Given the description of an element on the screen output the (x, y) to click on. 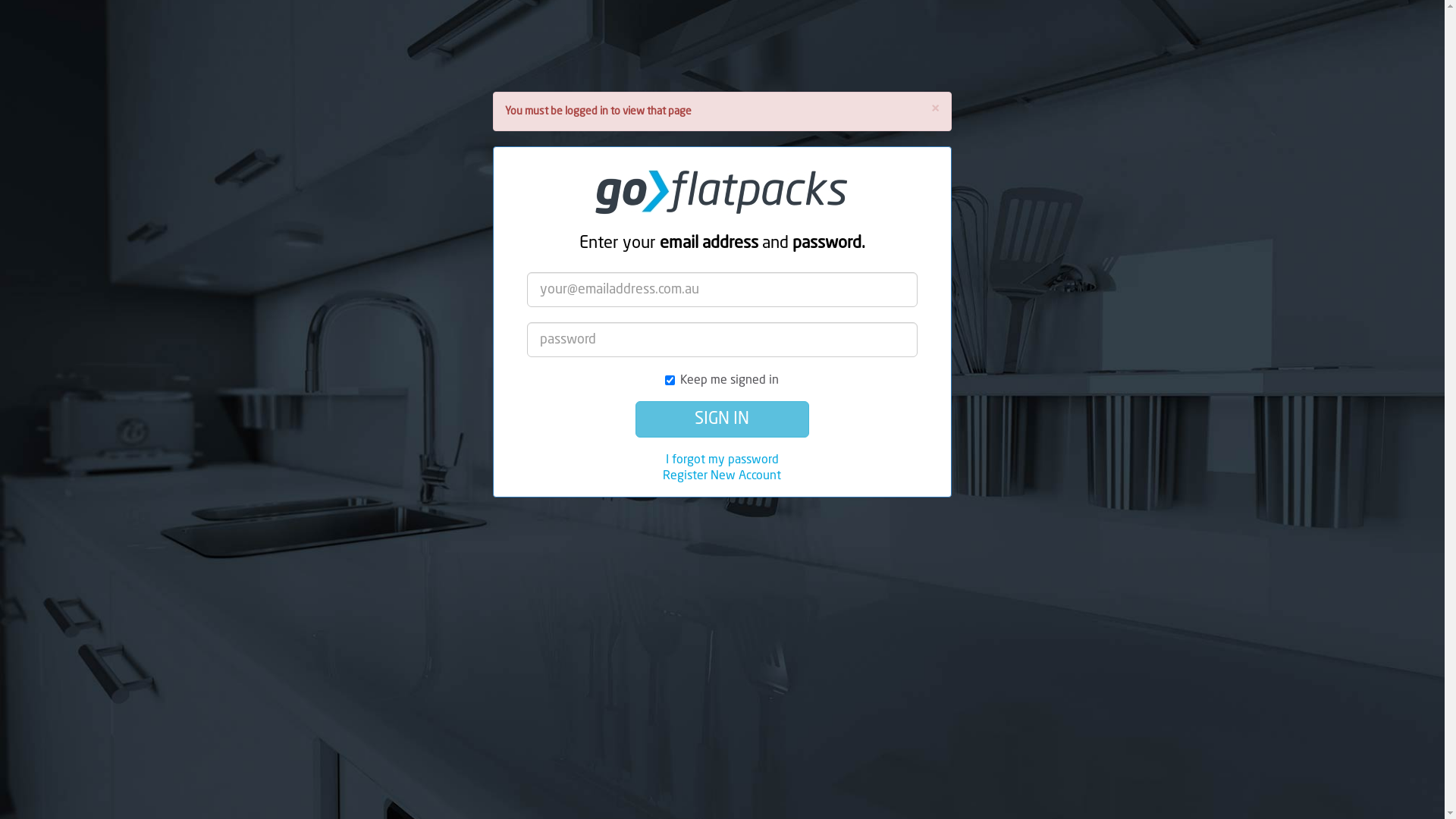
I forgot my password Element type: text (721, 460)
Register New Account Element type: text (721, 476)
SIGN IN Element type: text (722, 419)
